Given the description of an element on the screen output the (x, y) to click on. 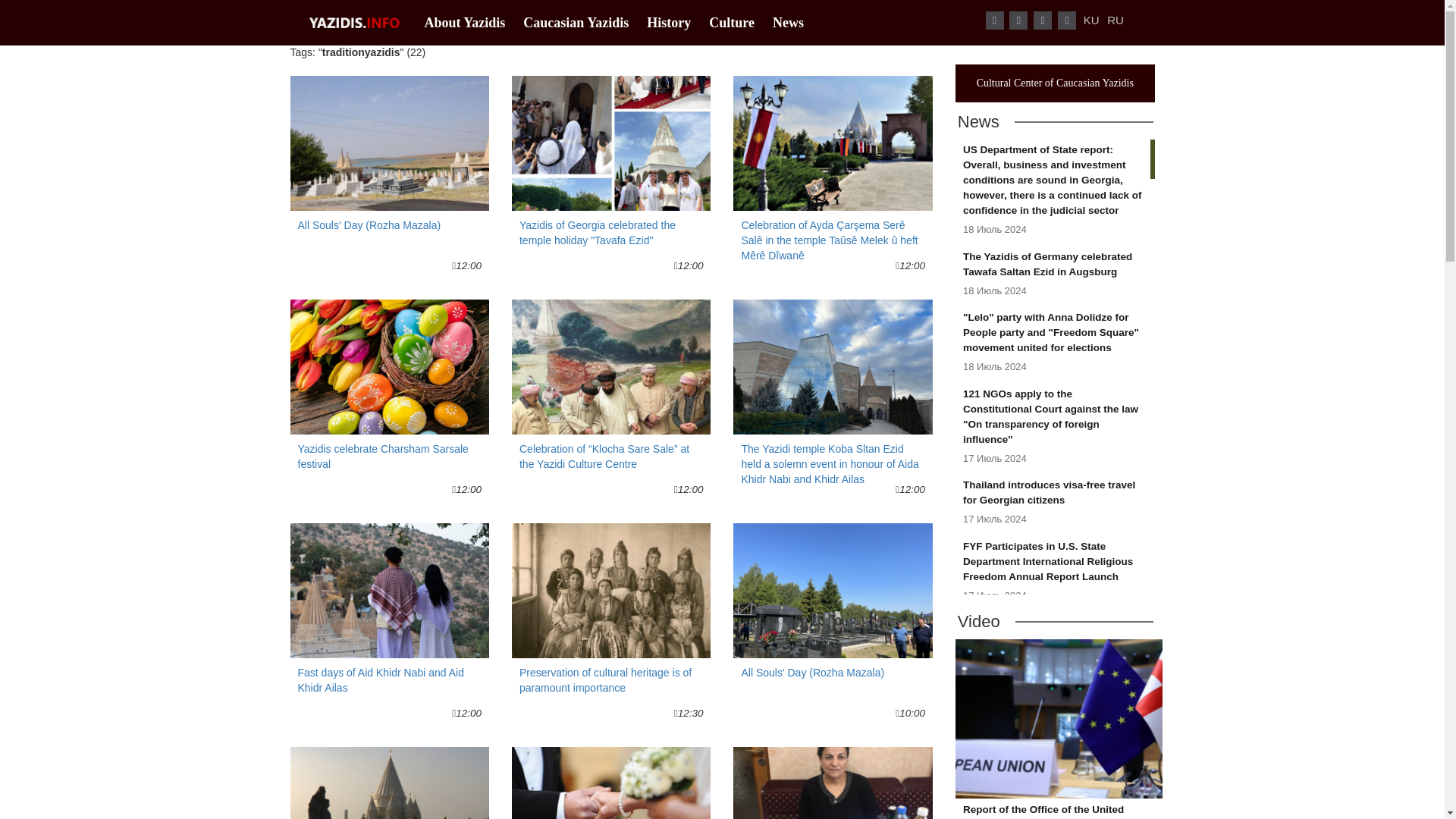
RU (1115, 20)
History (673, 22)
Culture (735, 22)
KU (388, 782)
Caucasian Yazidis (388, 389)
